Given the description of an element on the screen output the (x, y) to click on. 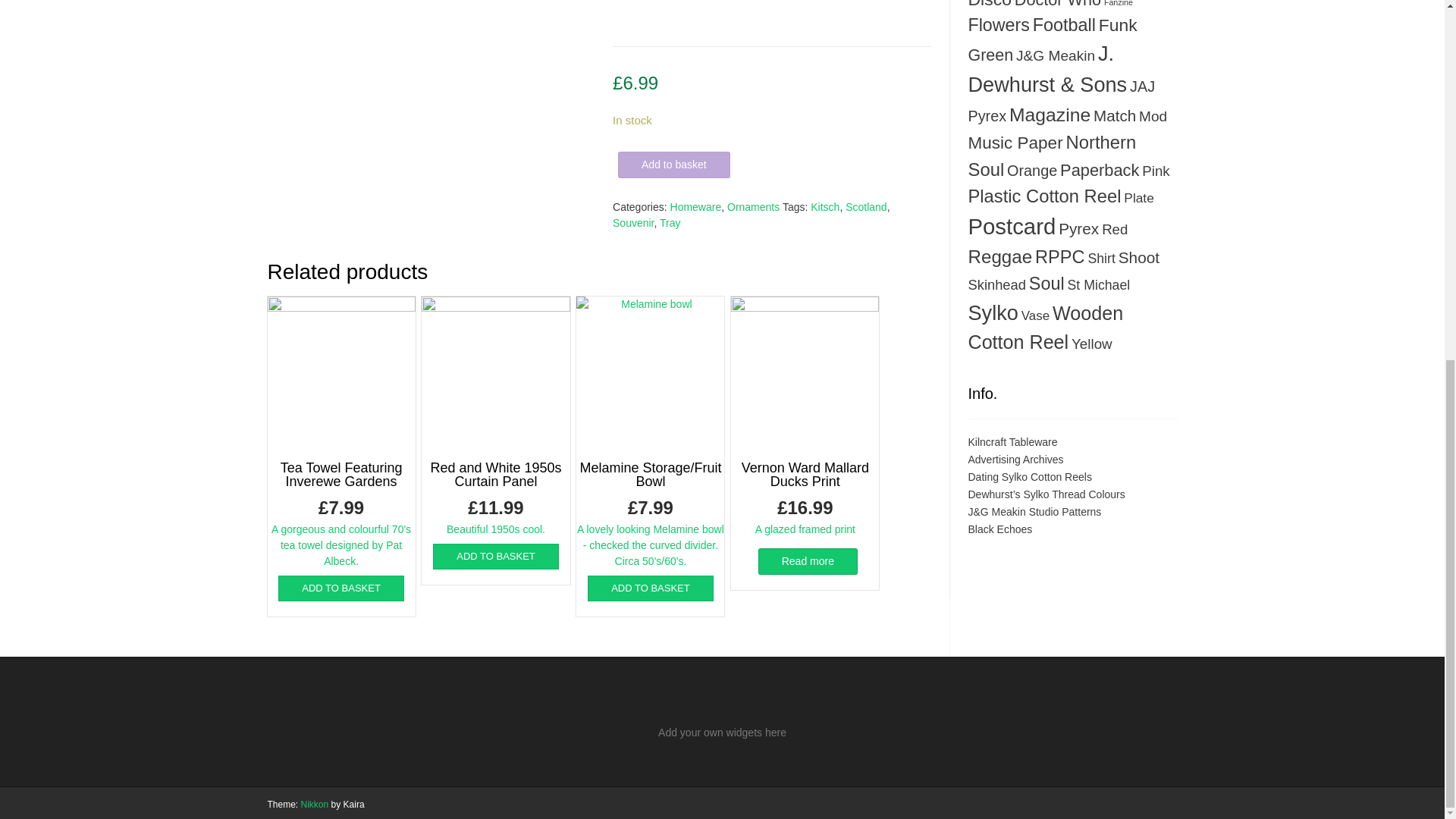
Homeware (695, 206)
Kitsch (825, 206)
Read more (807, 560)
Tray (669, 223)
ADD TO BASKET (341, 588)
ADD TO BASKET (650, 588)
ADD TO BASKET (495, 556)
Add to basket (673, 164)
Souvenir (632, 223)
Ornaments (752, 206)
